Given the description of an element on the screen output the (x, y) to click on. 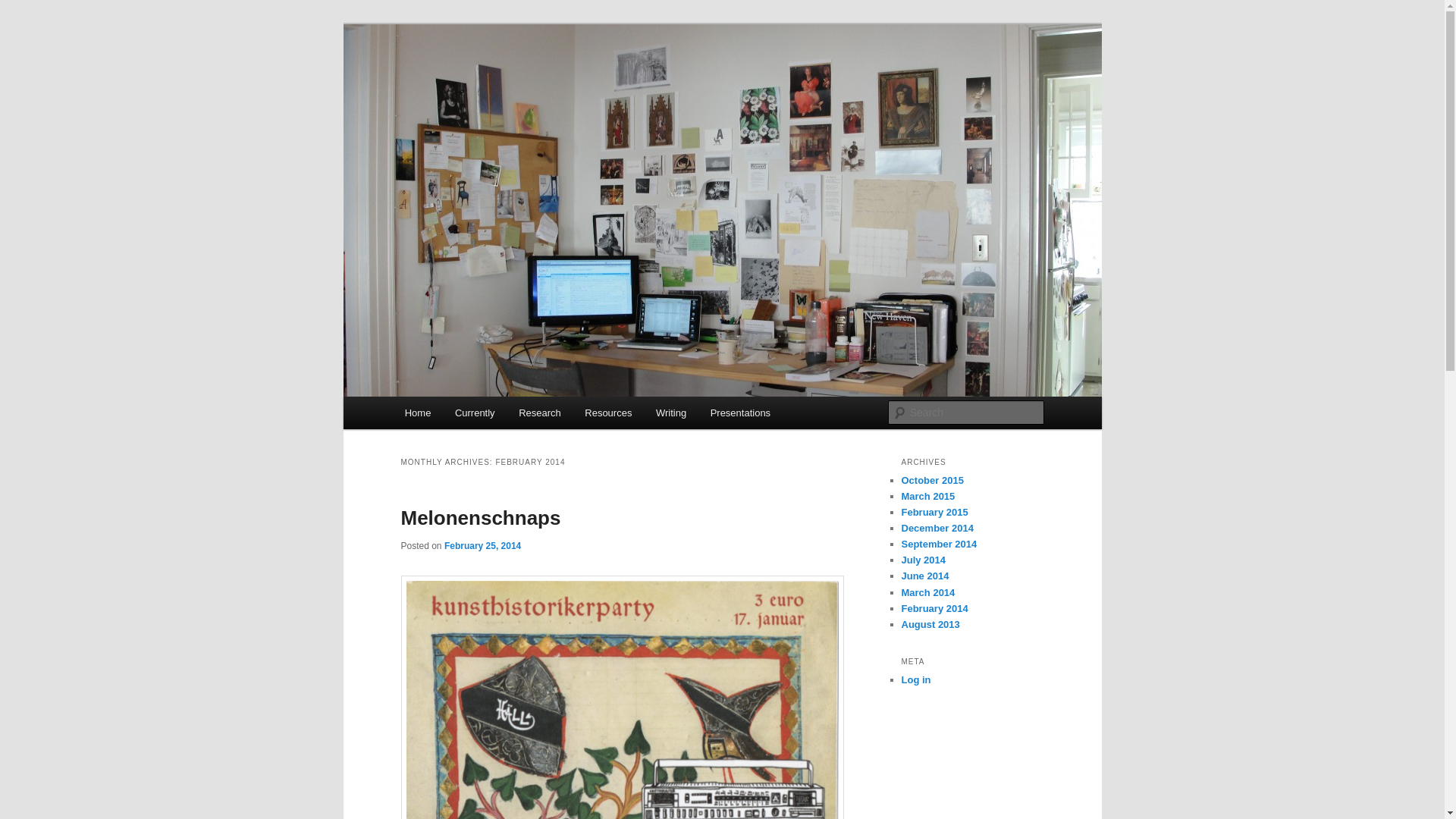
August 2013 (930, 624)
Log in (915, 679)
July 2014 (922, 559)
Melonenschnaps (480, 517)
Currently (474, 412)
Search (24, 8)
June 2014 (925, 575)
March 2014 (928, 592)
March 2015 (928, 496)
11:59 am (482, 544)
February 2014 (934, 608)
December 2014 (936, 527)
Writing (670, 412)
September 2014 (938, 543)
